Given the description of an element on the screen output the (x, y) to click on. 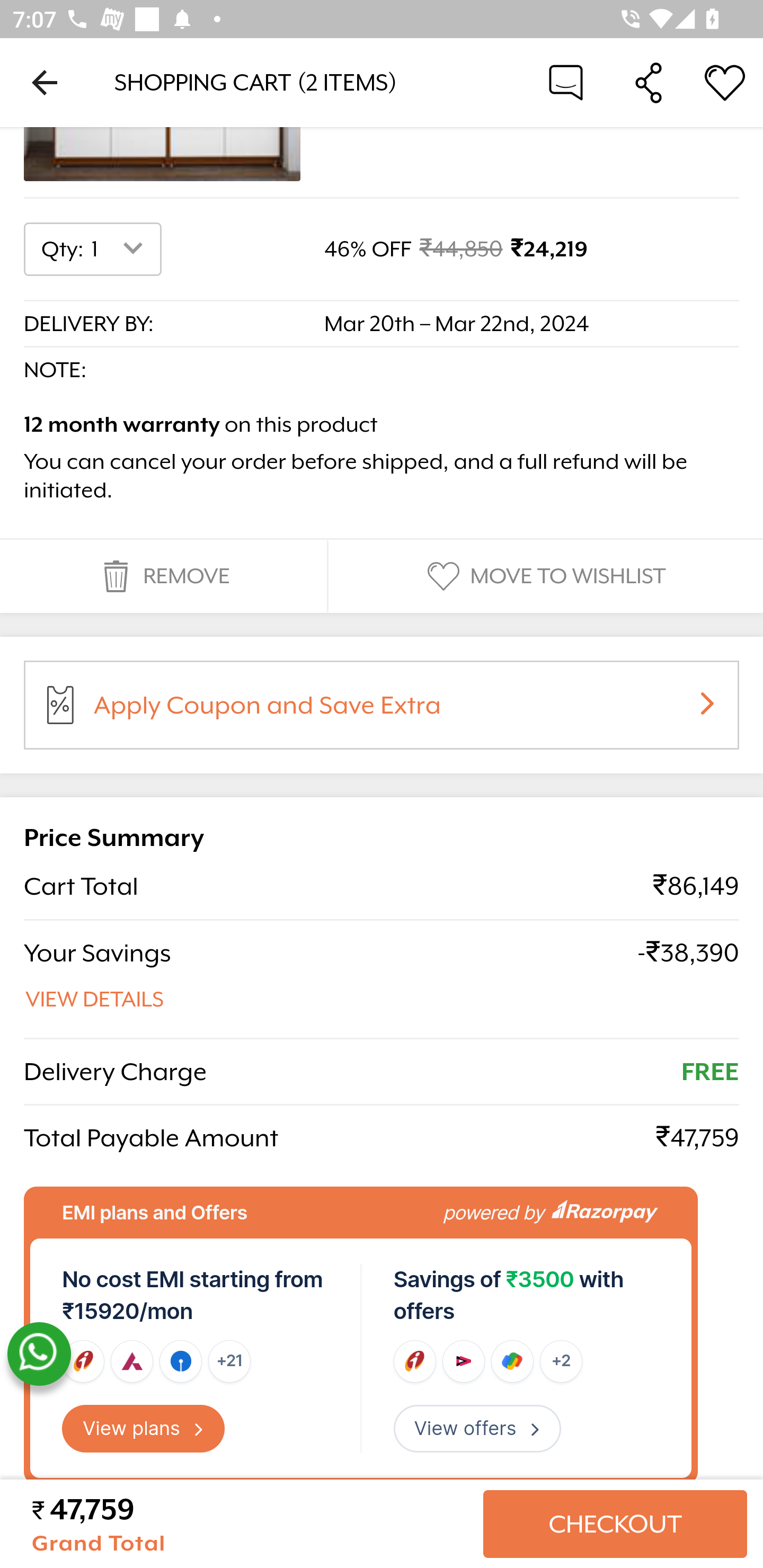
Navigate up (44, 82)
Chat (565, 81)
Share Cart (648, 81)
Wishlist (724, 81)
1 (121, 249)
REMOVE (163, 577)
MOVE TO WISHLIST (544, 577)
Apply Coupon and Save Extra (402, 712)
VIEW DETAILS (95, 999)
whatsapp (38, 1354)
View plans (143, 1428)
View offers (476, 1428)
₹ 47,759 Grand Total (250, 1524)
CHECKOUT (614, 1524)
